Given the description of an element on the screen output the (x, y) to click on. 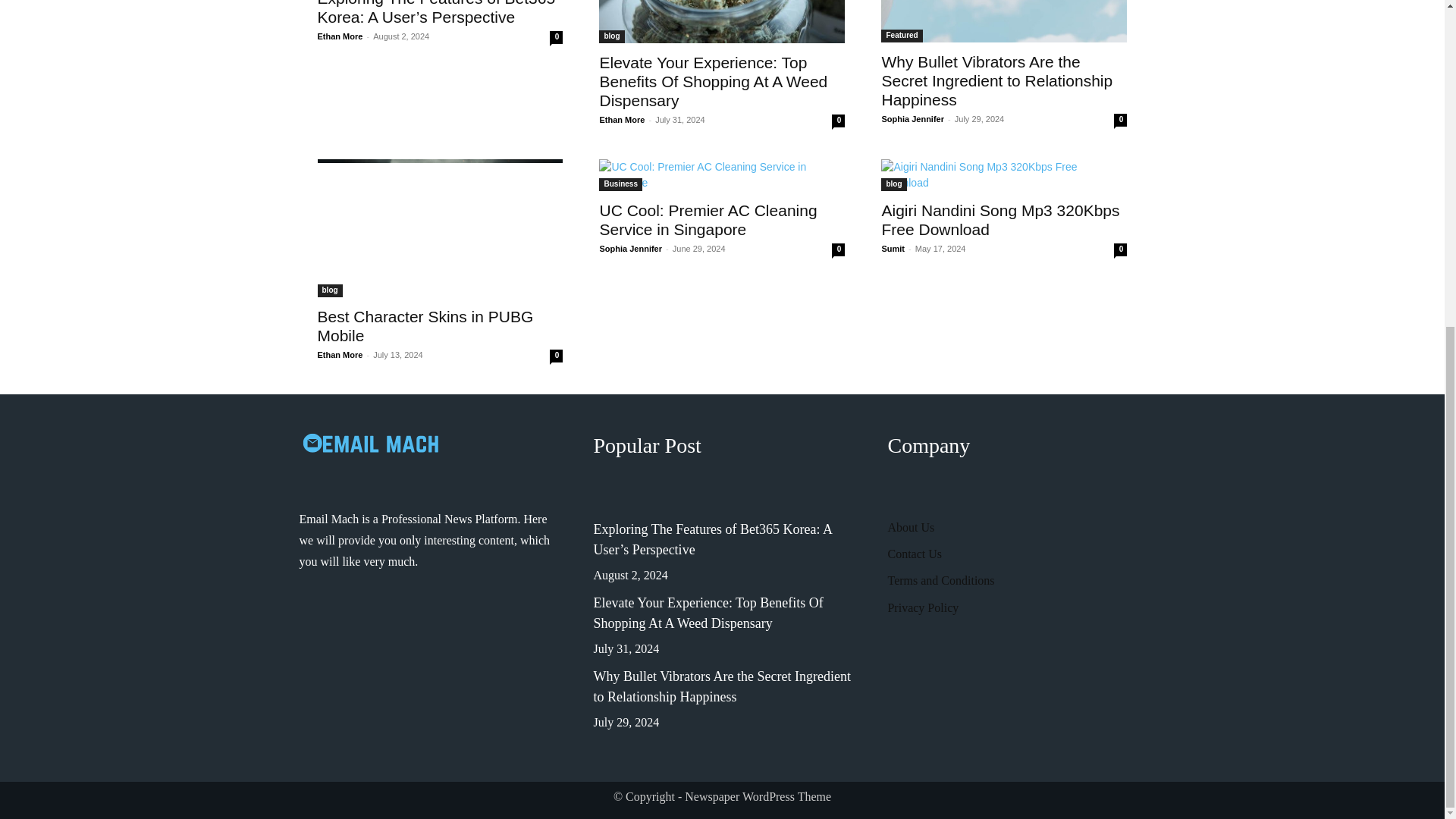
Best Character Skins in PUBG Mobile (439, 227)
UC Cool: Premier AC Cleaning Service in Singapore (721, 174)
Best Character Skins in PUBG Mobile (424, 325)
